Given the description of an element on the screen output the (x, y) to click on. 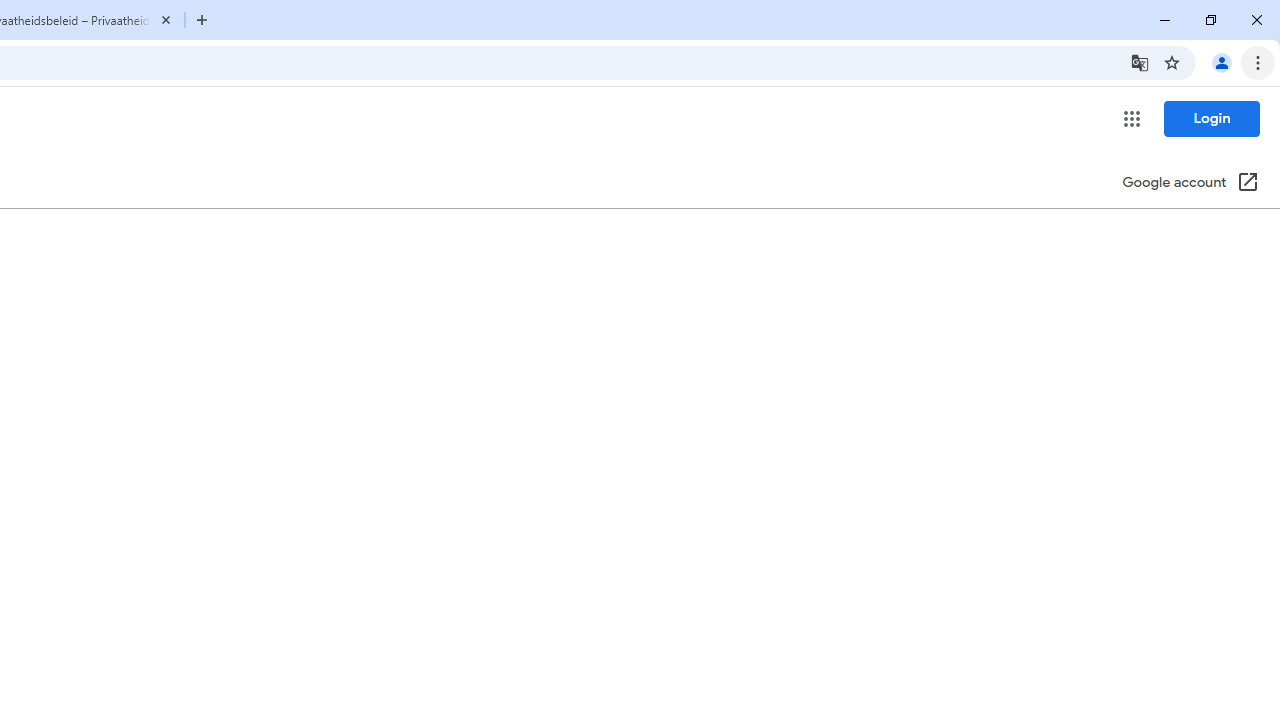
Translate this page (1139, 62)
Login (1211, 118)
Google Account (Opens in new window) (1190, 183)
